Given the description of an element on the screen output the (x, y) to click on. 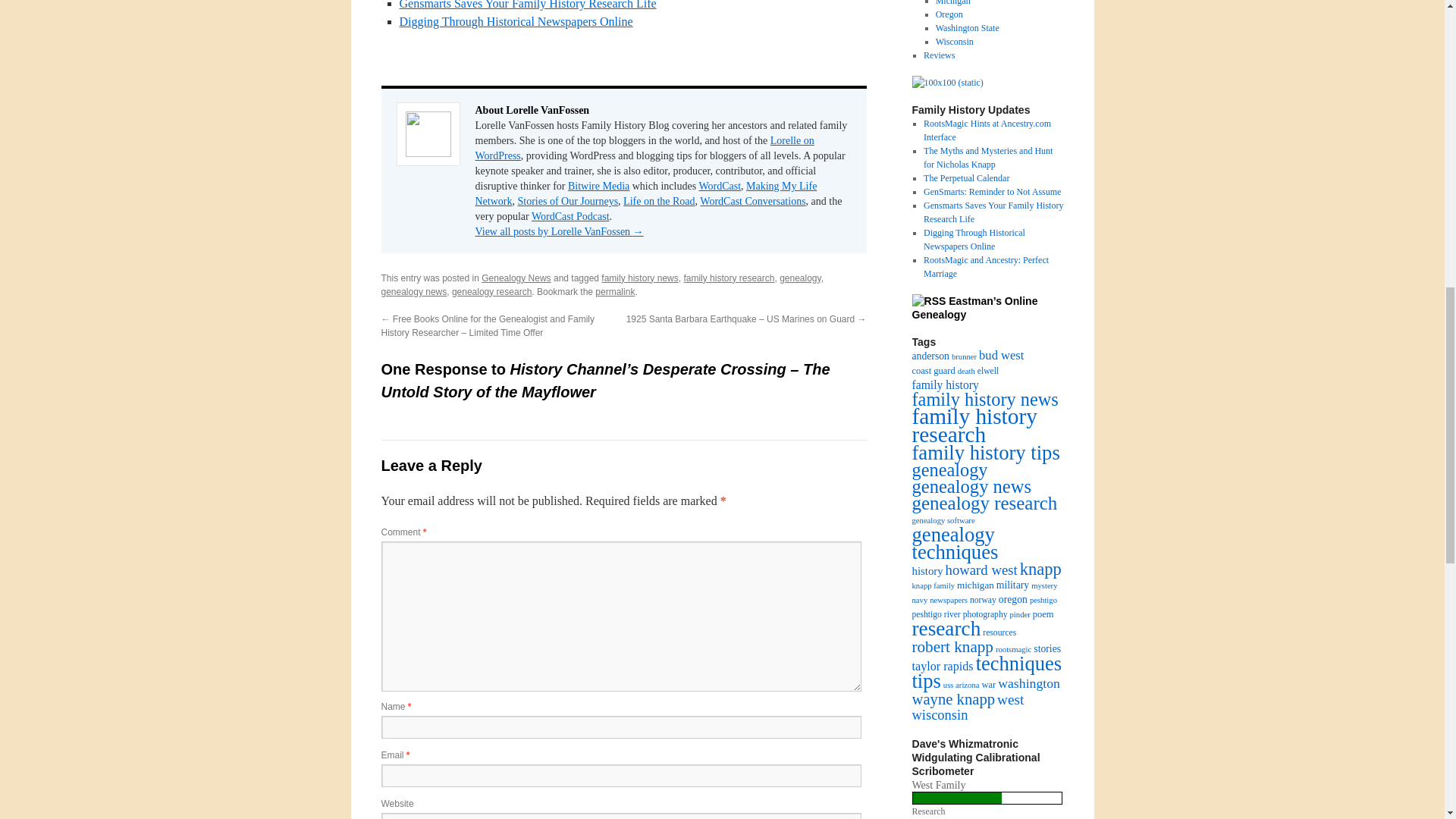
WordCast Podcast (570, 215)
Bitwire Media (597, 185)
WordCast Conversations (752, 201)
Lorelle on WordPress (643, 148)
genealogy (799, 277)
Making My Life Network (645, 193)
Stories of Our Journeys (566, 201)
WordCast (719, 185)
Digging Through Historical Newspapers Online (514, 21)
Making My Life Network (645, 193)
